Given the description of an element on the screen output the (x, y) to click on. 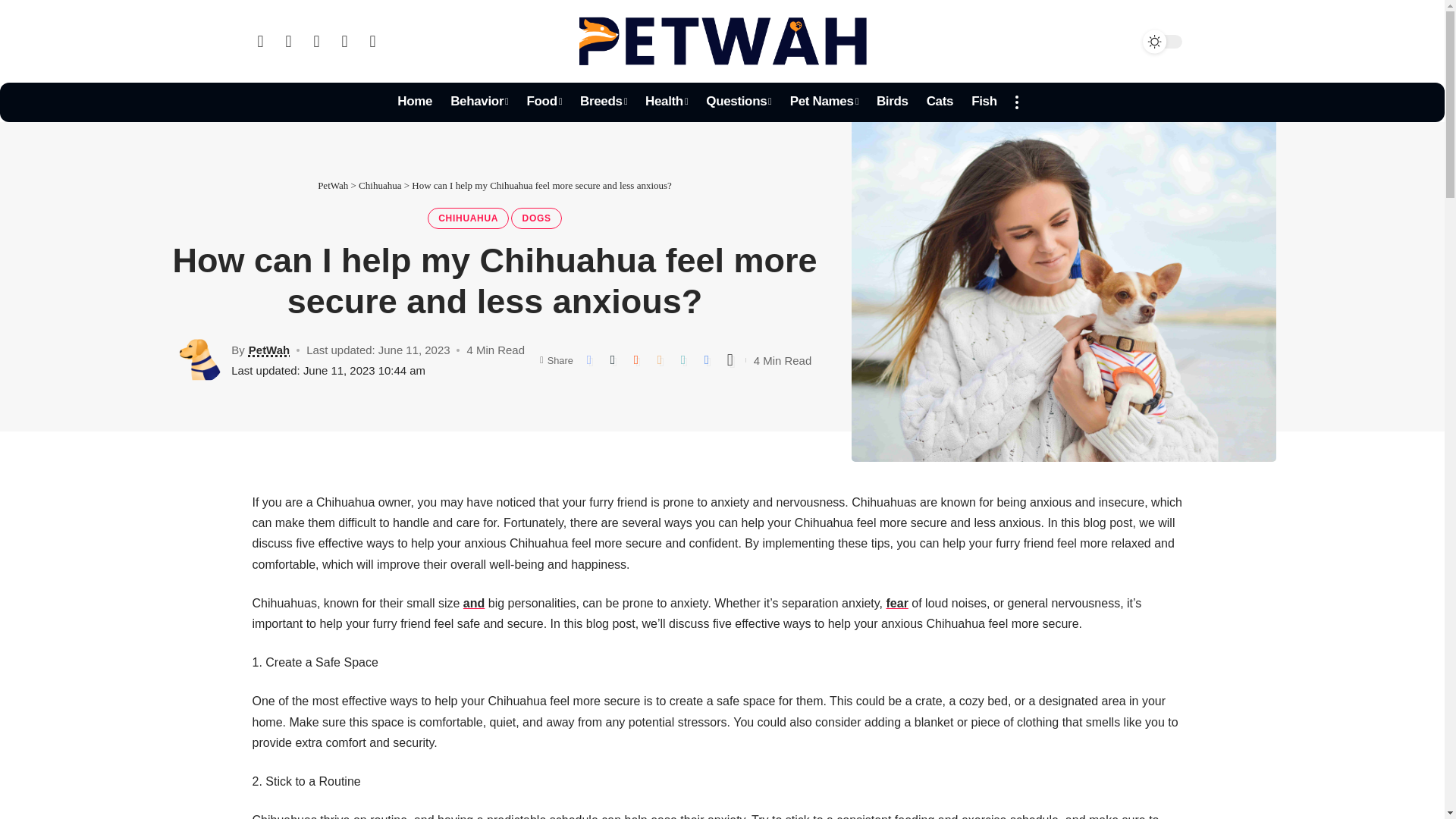
Home (414, 102)
Cats (939, 102)
Breeds (603, 102)
Fish (984, 102)
Go to PetWah. (332, 184)
Go to the Chihuahua Category archives. (379, 184)
Birds (892, 102)
Food (543, 102)
Pet Names (823, 102)
Questions (738, 102)
